Given the description of an element on the screen output the (x, y) to click on. 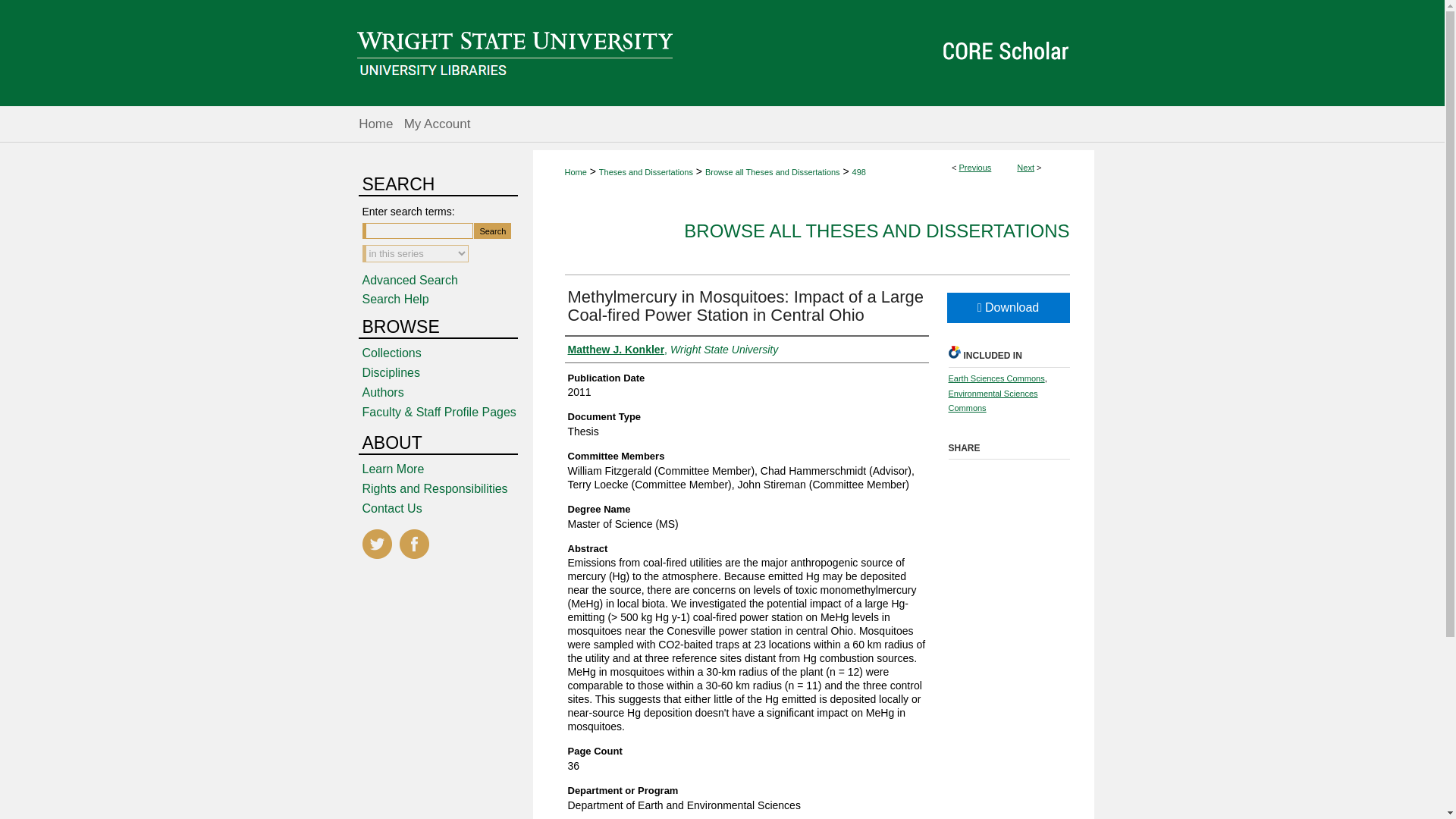
Advanced Search (410, 279)
Authors (447, 392)
Search Help (395, 298)
Home (374, 123)
Home (374, 123)
Next (1024, 166)
Browse all Theses and Dissertations (772, 171)
Environmental Sciences Commons (991, 401)
CORE Scholar (721, 53)
Previous (975, 166)
Disciplines (447, 373)
Collections (447, 353)
BROWSE ALL THESES AND DISSERTATIONS (876, 230)
498 (858, 171)
